Given the description of an element on the screen output the (x, y) to click on. 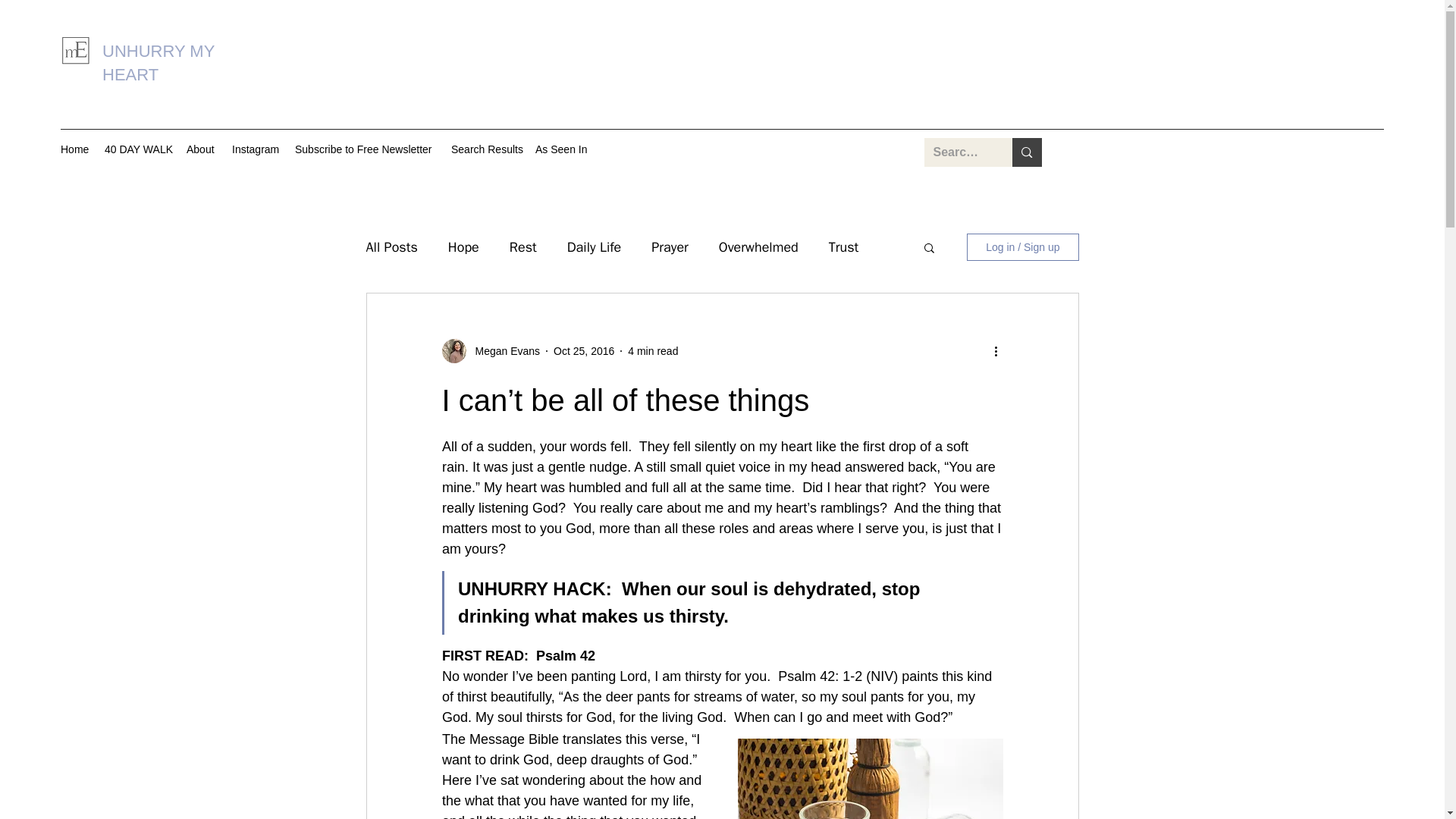
Search Results (485, 149)
Subscribe to Free Newsletter (365, 149)
Prayer (669, 247)
4 min read (652, 350)
Megan Evans (502, 351)
Oct 25, 2016 (583, 350)
40 DAY WALK (138, 149)
Hope (463, 247)
UNHURRY MY HEART (157, 62)
Rest (523, 247)
All Posts (390, 247)
About (201, 149)
Overwhelmed (758, 247)
Home (74, 149)
Trust (843, 247)
